Given the description of an element on the screen output the (x, y) to click on. 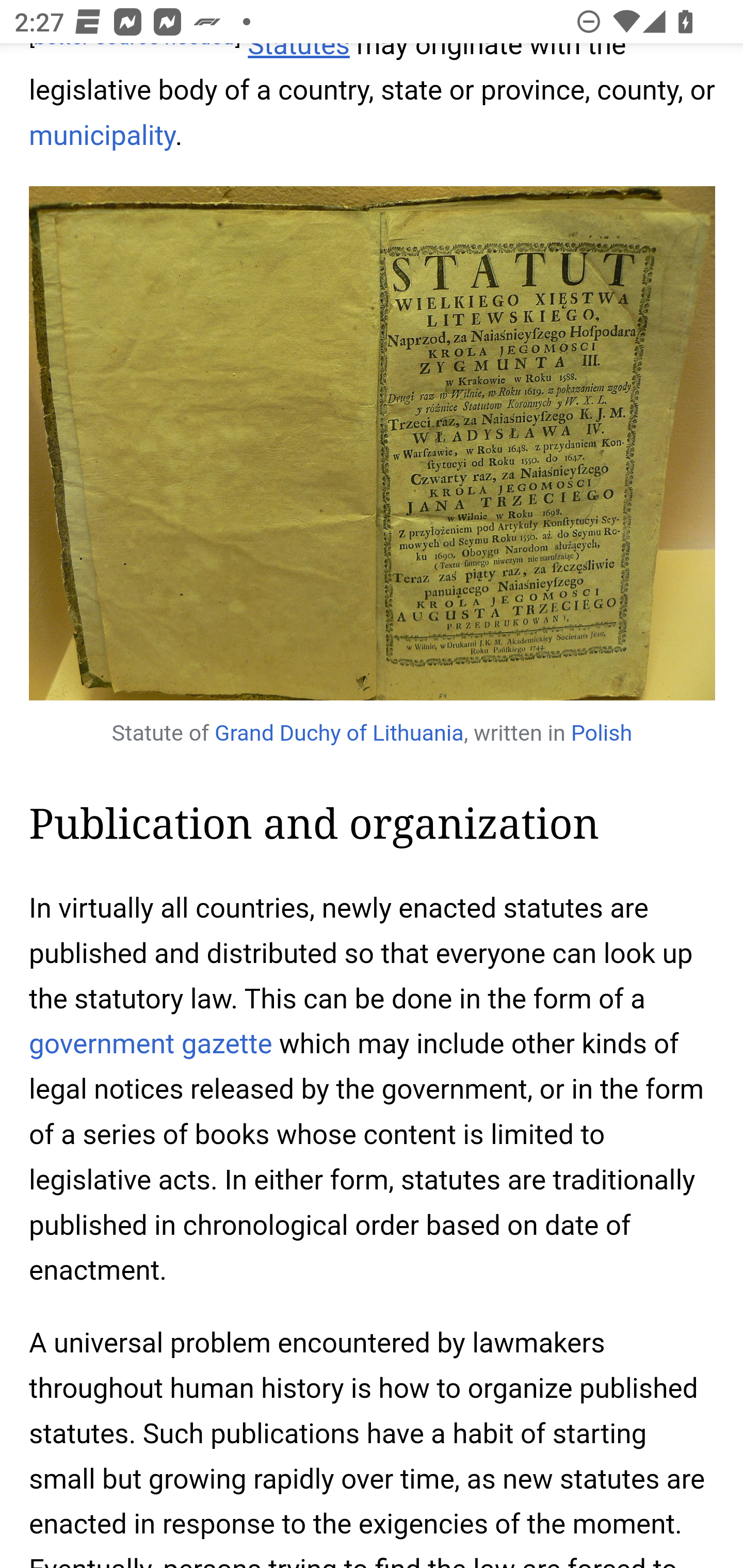
better source needed better   source   needed (135, 47)
Statutes (298, 52)
municipality (102, 136)
1280px-GDL_Statute (372, 443)
Grand Duchy of Lithuania (338, 732)
Polish (601, 732)
government gazette (150, 1044)
